Given the description of an element on the screen output the (x, y) to click on. 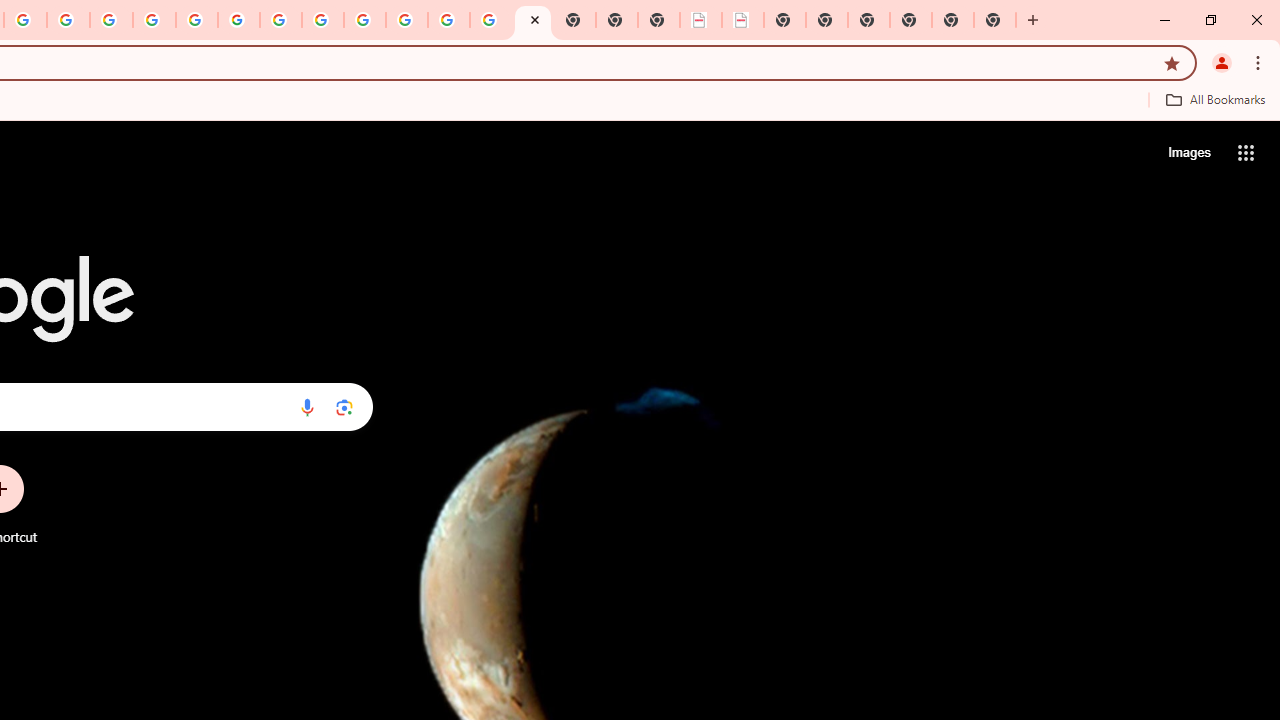
YouTube (280, 20)
Privacy Help Center - Policies Help (154, 20)
New Tab (995, 20)
